Given the description of an element on the screen output the (x, y) to click on. 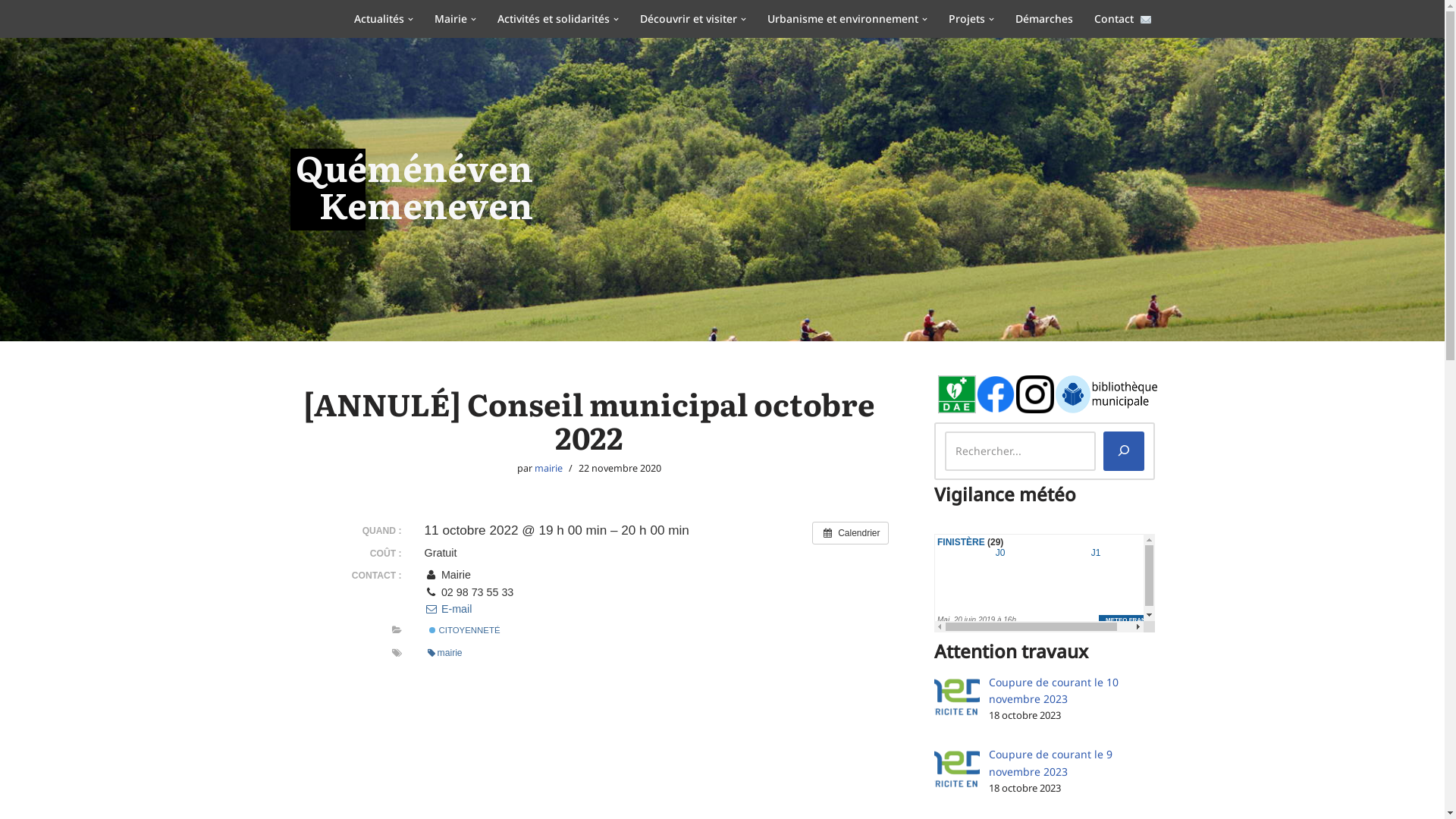
Contact   Element type: text (1122, 18)
mairie Element type: text (548, 467)
Urbanisme et environnement Element type: text (842, 18)
Projets Element type: text (966, 18)
E-mail Element type: text (448, 608)
Mairie Element type: text (450, 18)
Coupure de courant le 10 novembre 2023 Element type: text (1053, 690)
Coupure de courant le 9 novembre 2023 Element type: text (1050, 762)
Calendrier Element type: text (850, 532)
mairie Element type: text (444, 653)
Page Facebook Element type: hover (995, 394)
Instagram Element type: hover (1035, 394)
Aller au contenu Element type: text (11, 31)
